Given the description of an element on the screen output the (x, y) to click on. 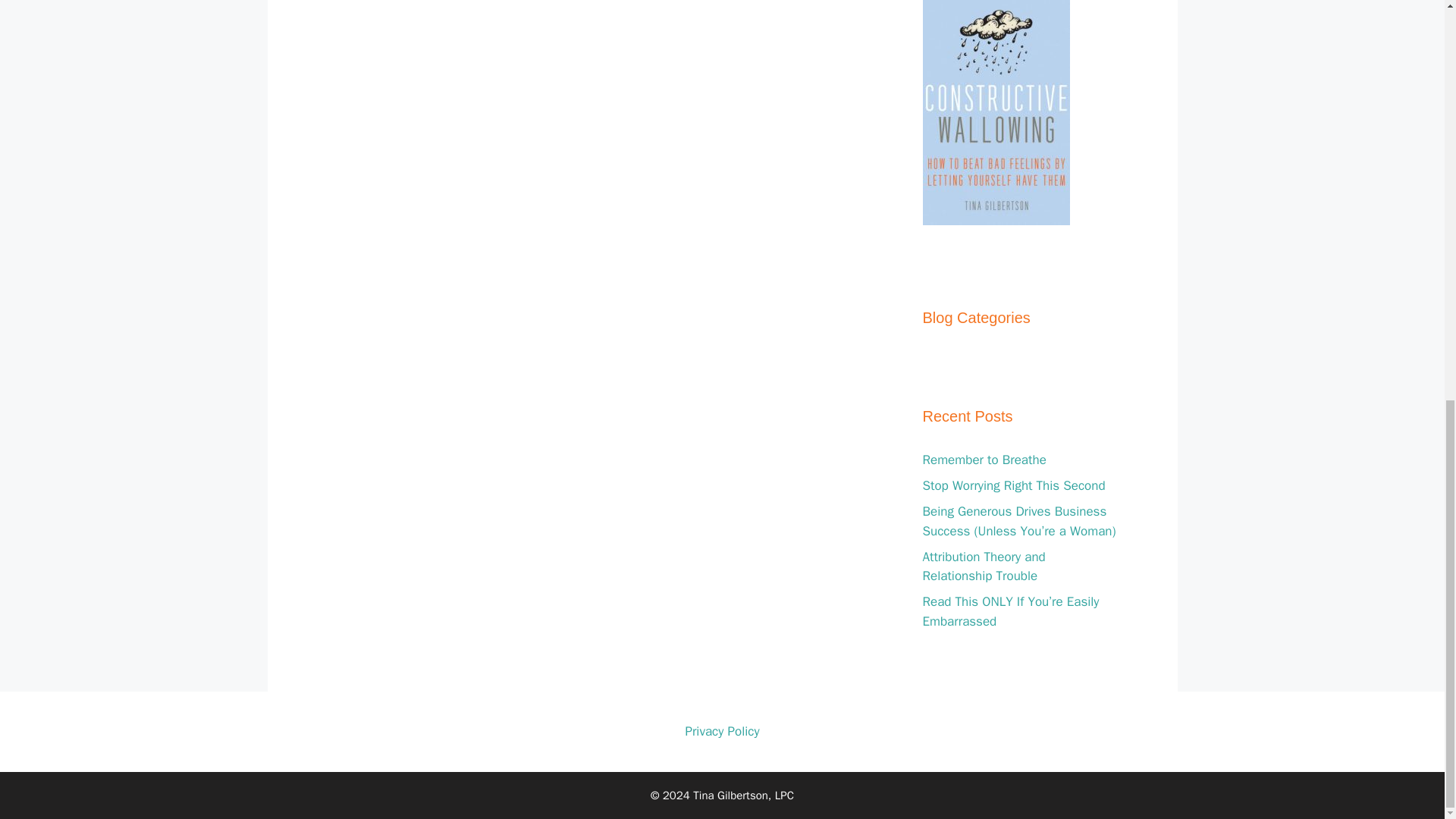
Stop Worrying Right This Second (1013, 485)
Scroll back to top (1406, 756)
Remember to Breathe (983, 459)
